Given the description of an element on the screen output the (x, y) to click on. 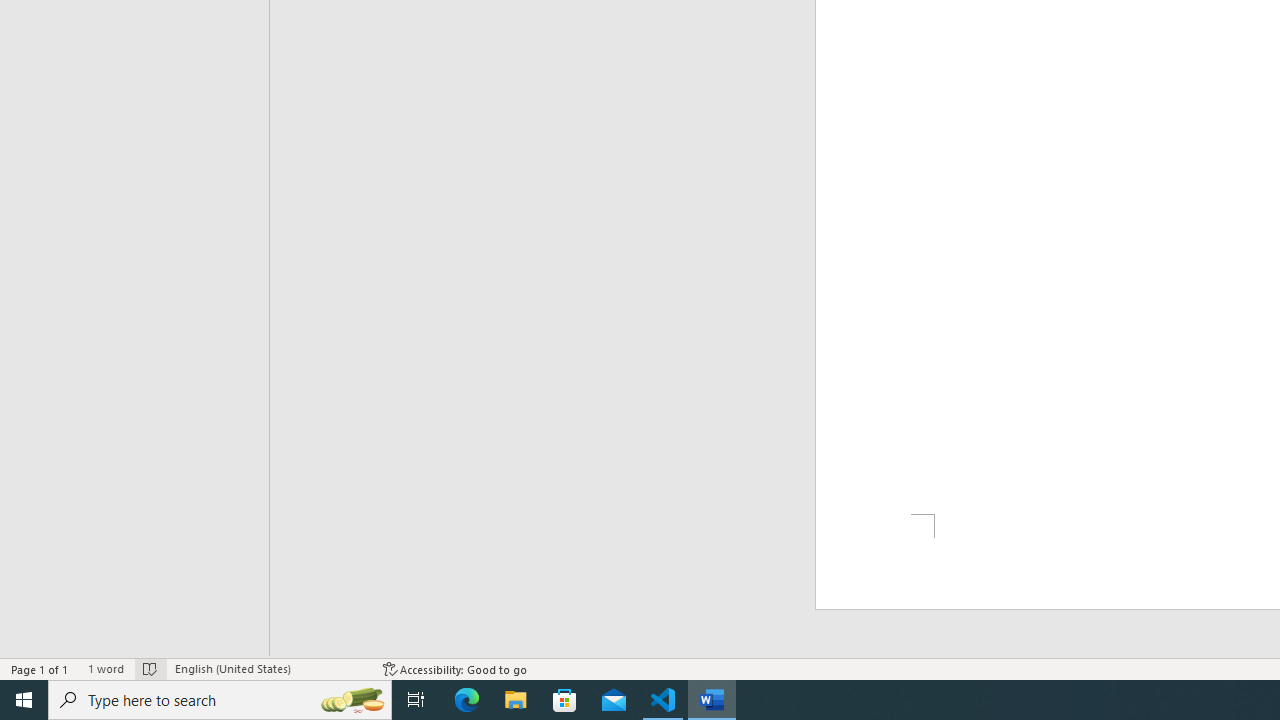
Accessibility Checker Accessibility: Good to go (455, 668)
Spelling and Grammar Check No Errors (150, 668)
Page Number Page 1 of 1 (39, 668)
Language English (United States) (269, 668)
